Given the description of an element on the screen output the (x, y) to click on. 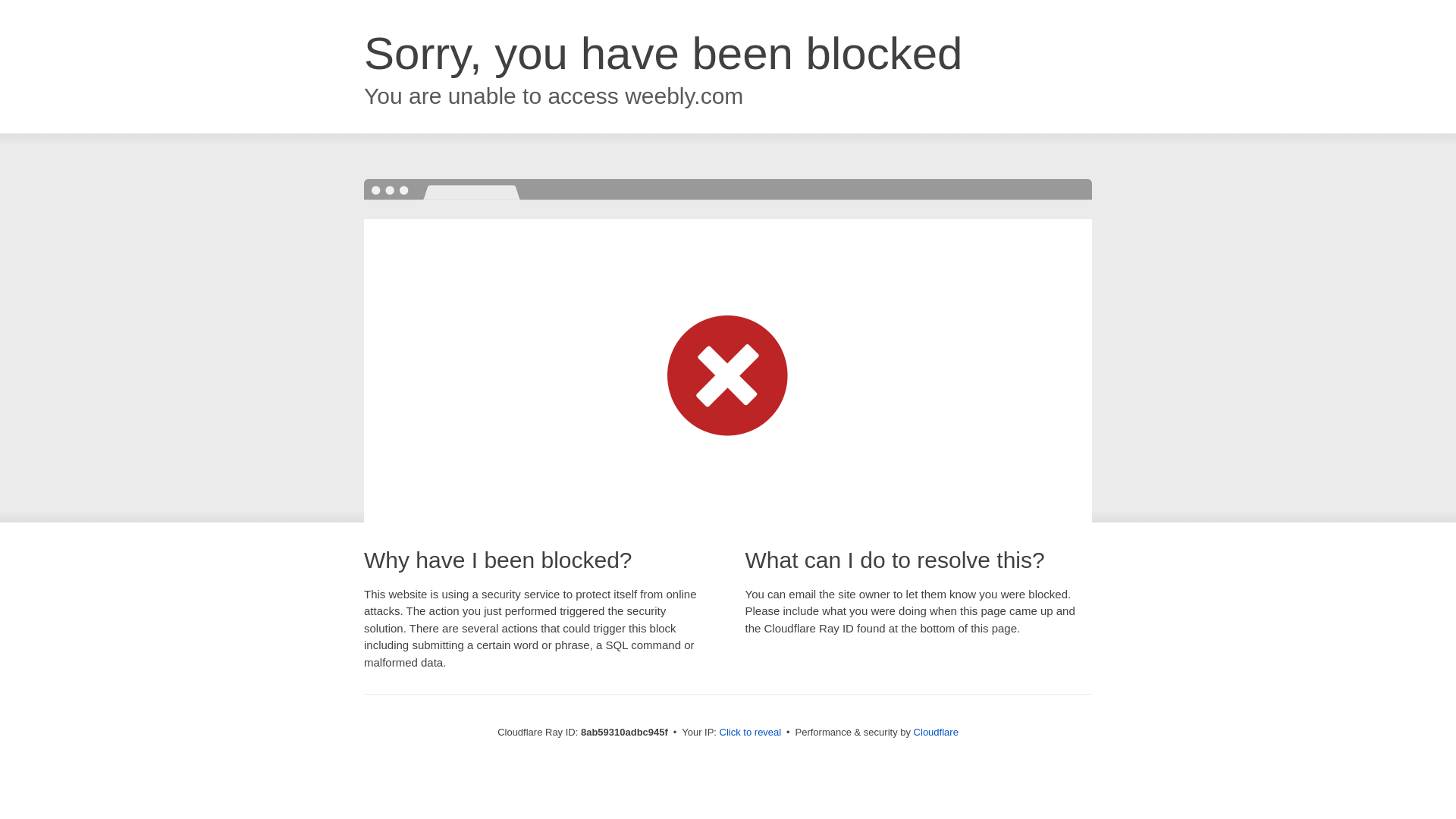
Cloudflare (936, 731)
Click to reveal (750, 732)
